Given the description of an element on the screen output the (x, y) to click on. 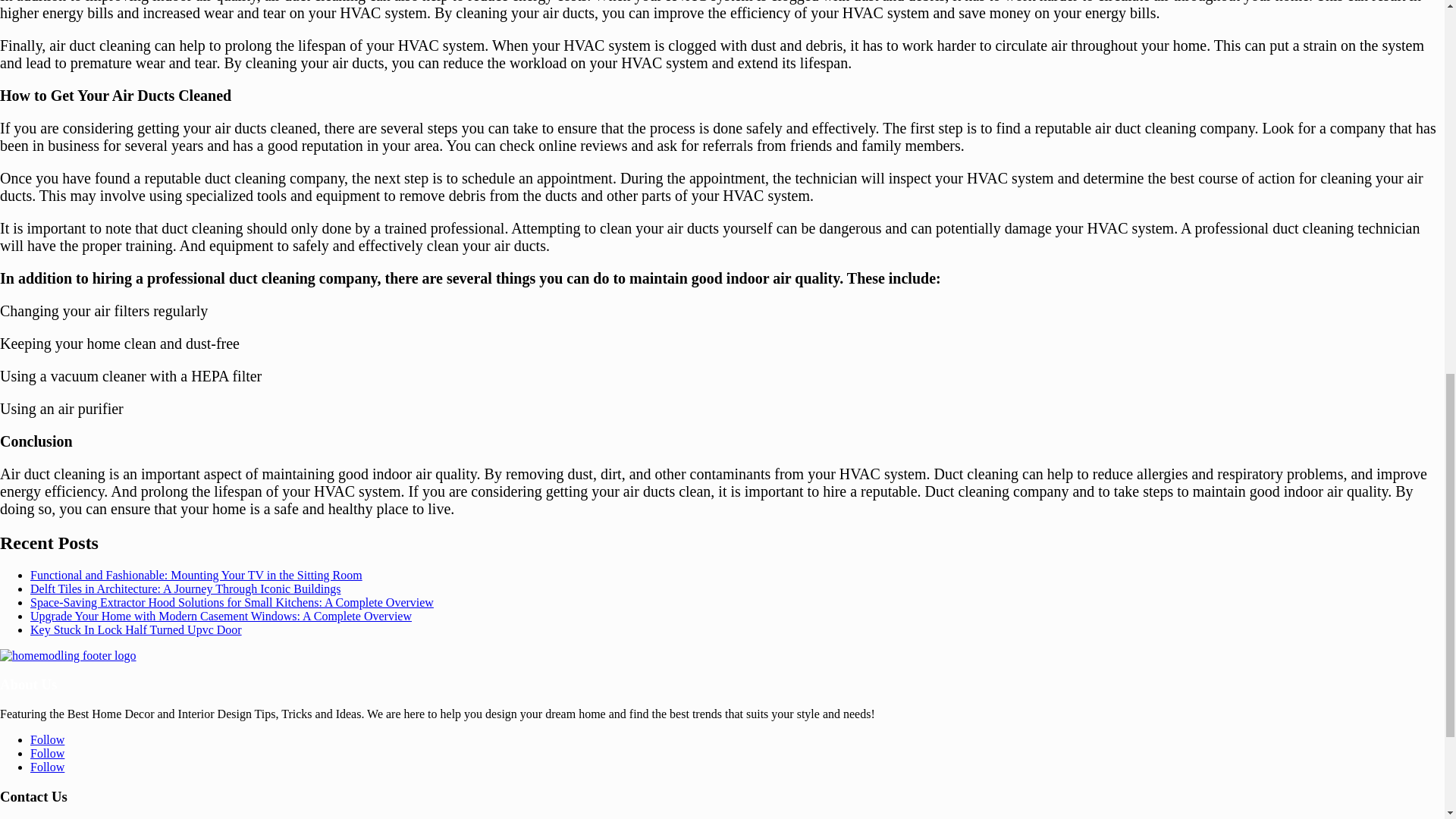
Key Stuck In Lock Half Turned Upvc Door (135, 629)
Follow (47, 753)
Follow on LinkedIn (47, 753)
Follow on Instagram (47, 766)
Follow on Facebook (47, 739)
Follow (47, 766)
Follow (47, 739)
